Given the description of an element on the screen output the (x, y) to click on. 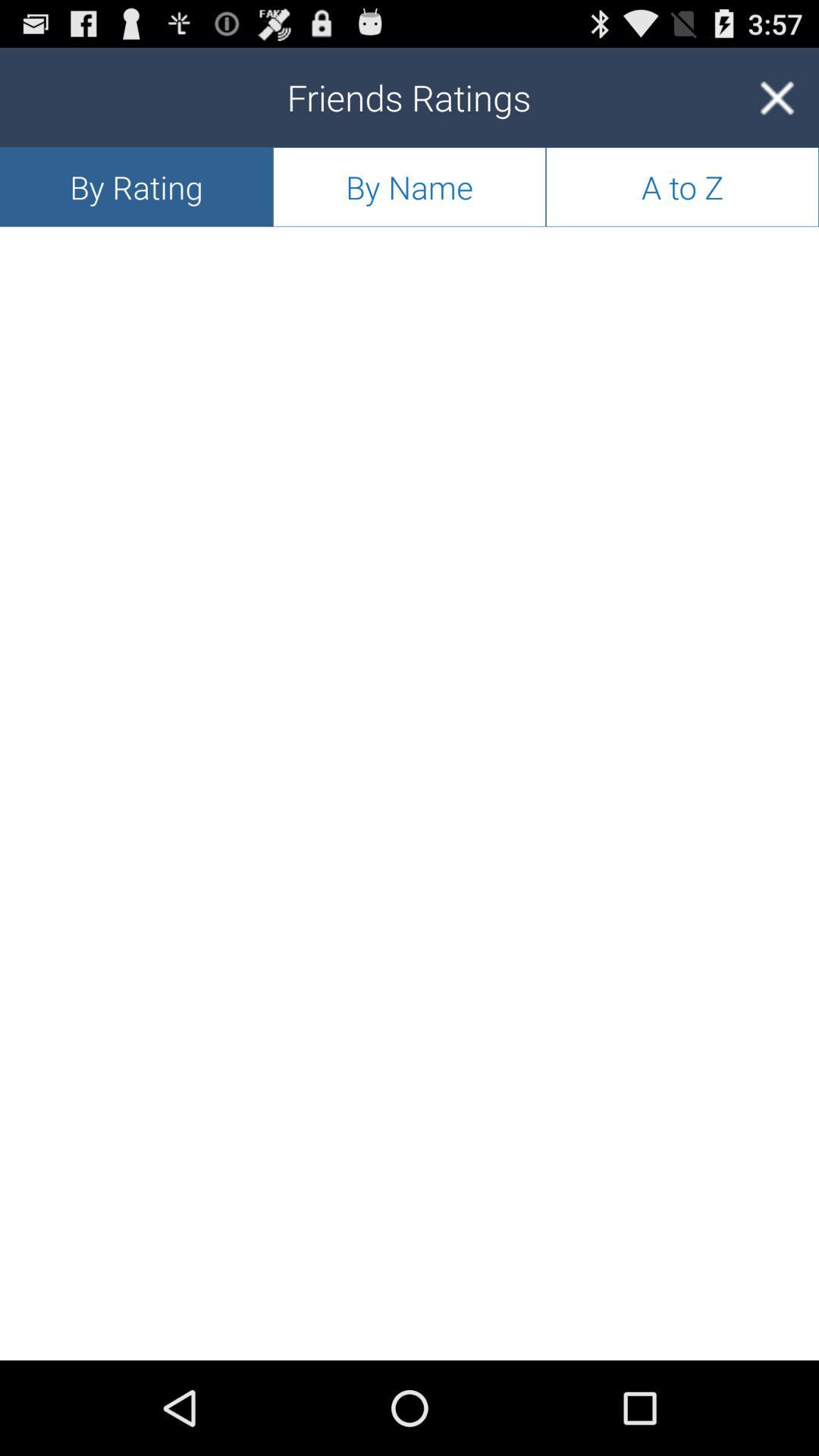
turn off by name icon (409, 186)
